Given the description of an element on the screen output the (x, y) to click on. 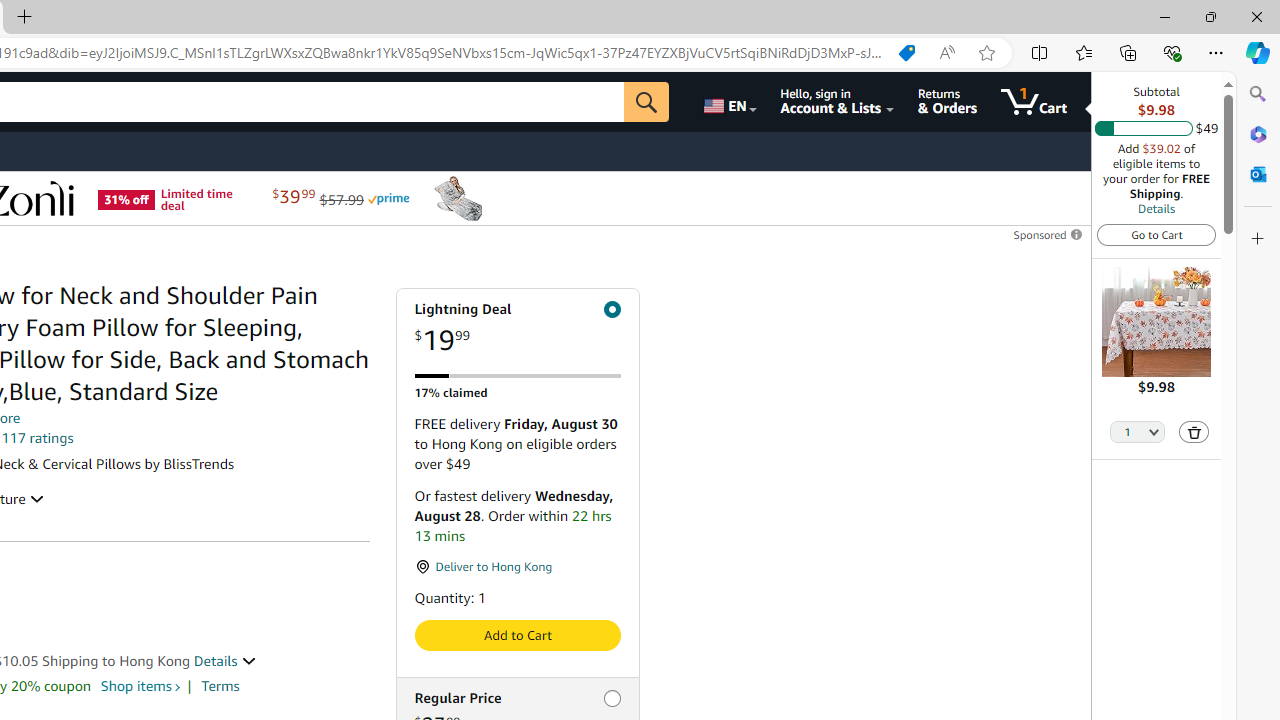
Details (1156, 208)
Delete (1193, 431)
Quantity Selector (1137, 433)
Shop items (138, 686)
Lightning Deal $19.99 (516, 327)
1 item in cart (1034, 101)
117 ratings (37, 438)
